Given the description of an element on the screen output the (x, y) to click on. 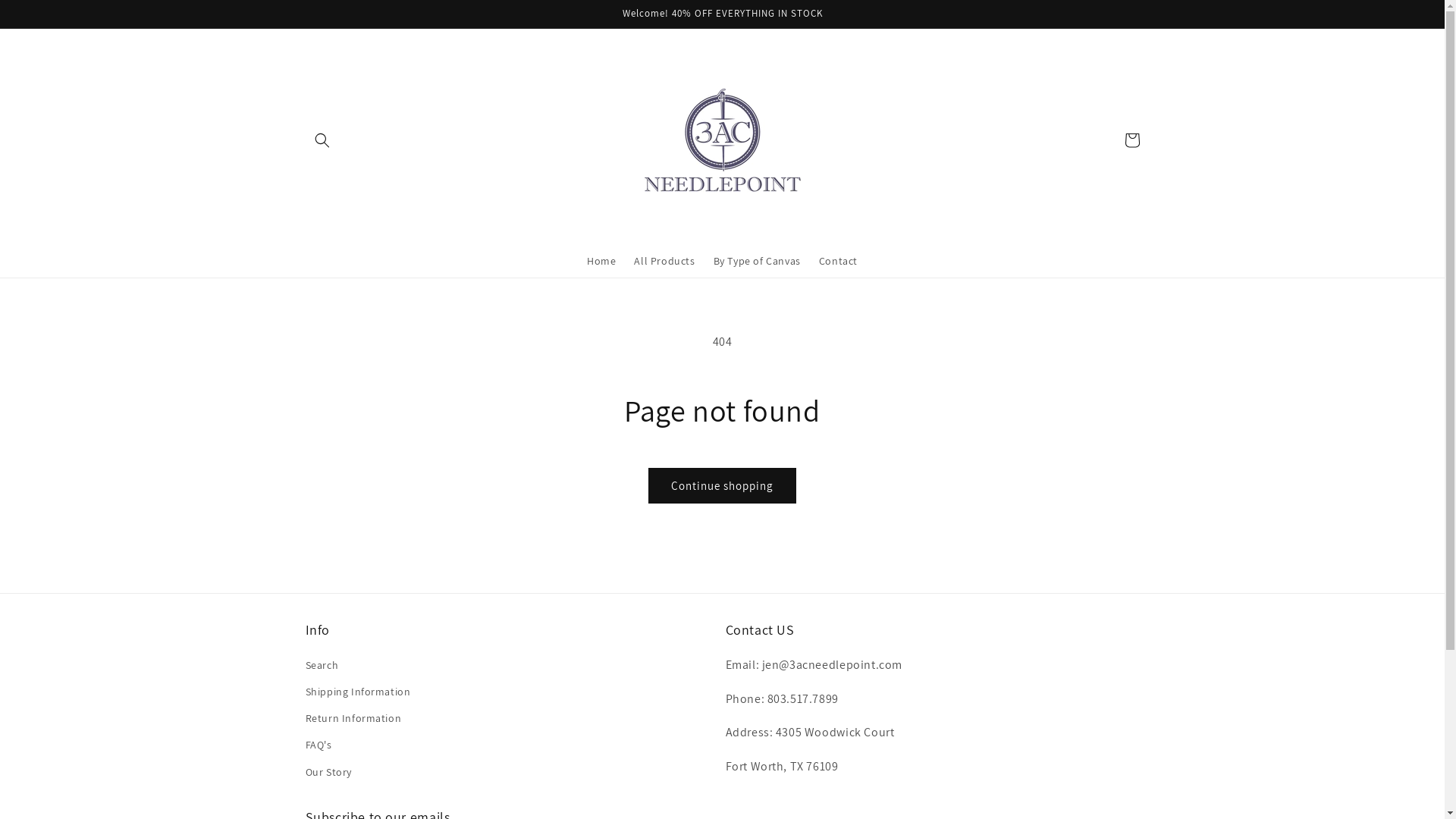
Contact Element type: text (837, 260)
Shipping Information Element type: text (357, 691)
By Type of Canvas Element type: text (756, 260)
Cart Element type: text (1131, 139)
Return Information Element type: text (352, 718)
Search Element type: text (321, 666)
FAQ's Element type: text (317, 744)
Our Story Element type: text (327, 772)
Continue shopping Element type: text (722, 485)
Home Element type: text (600, 260)
All Products Element type: text (663, 260)
